Given the description of an element on the screen output the (x, y) to click on. 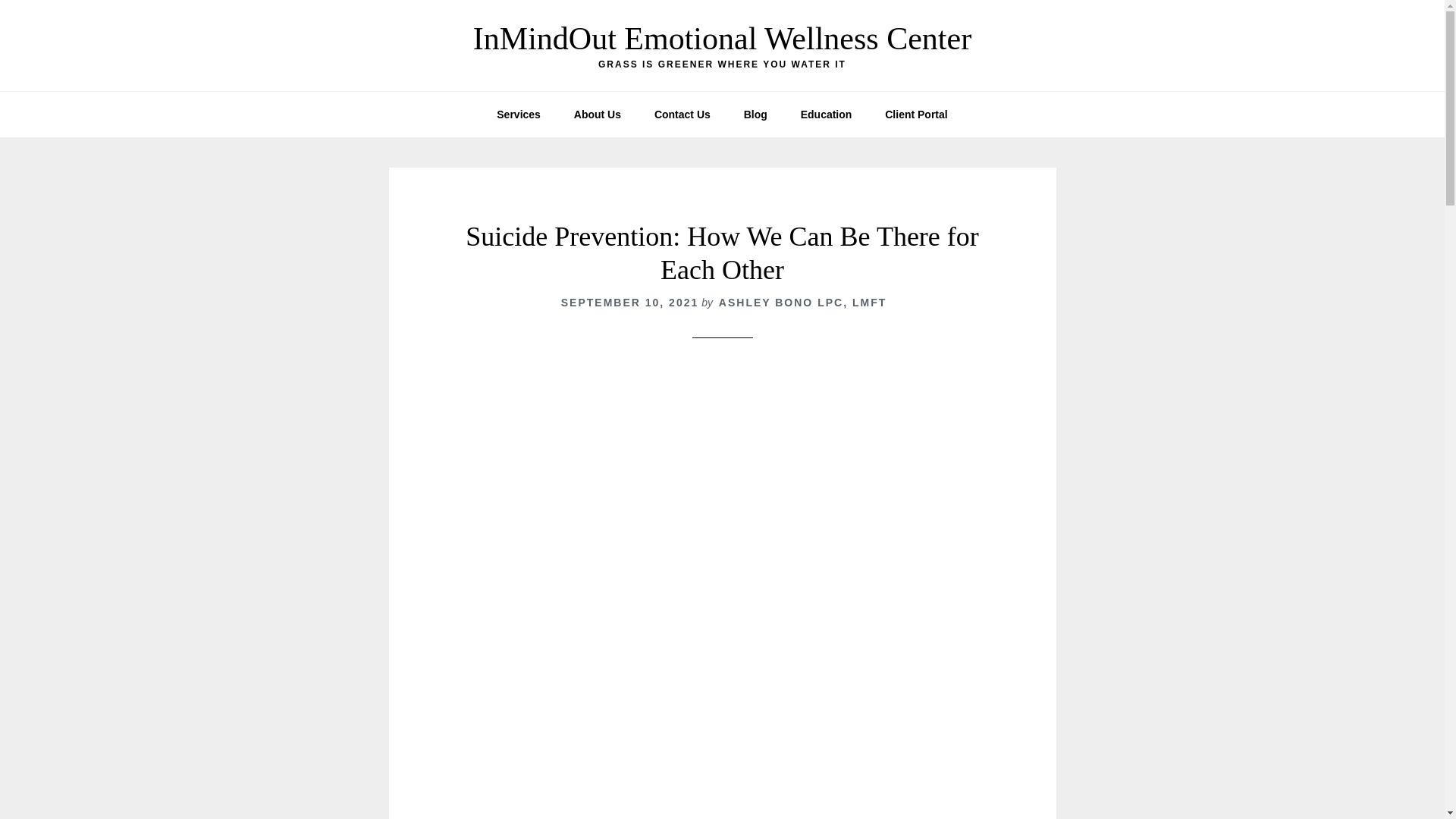
Services (518, 114)
Blog (756, 114)
ASHLEY BONO LPC, LMFT (802, 302)
Contact Us (682, 114)
About Us (597, 114)
Education (826, 114)
Client Portal (915, 114)
InMindOut Emotional Wellness Center (722, 38)
